Given the description of an element on the screen output the (x, y) to click on. 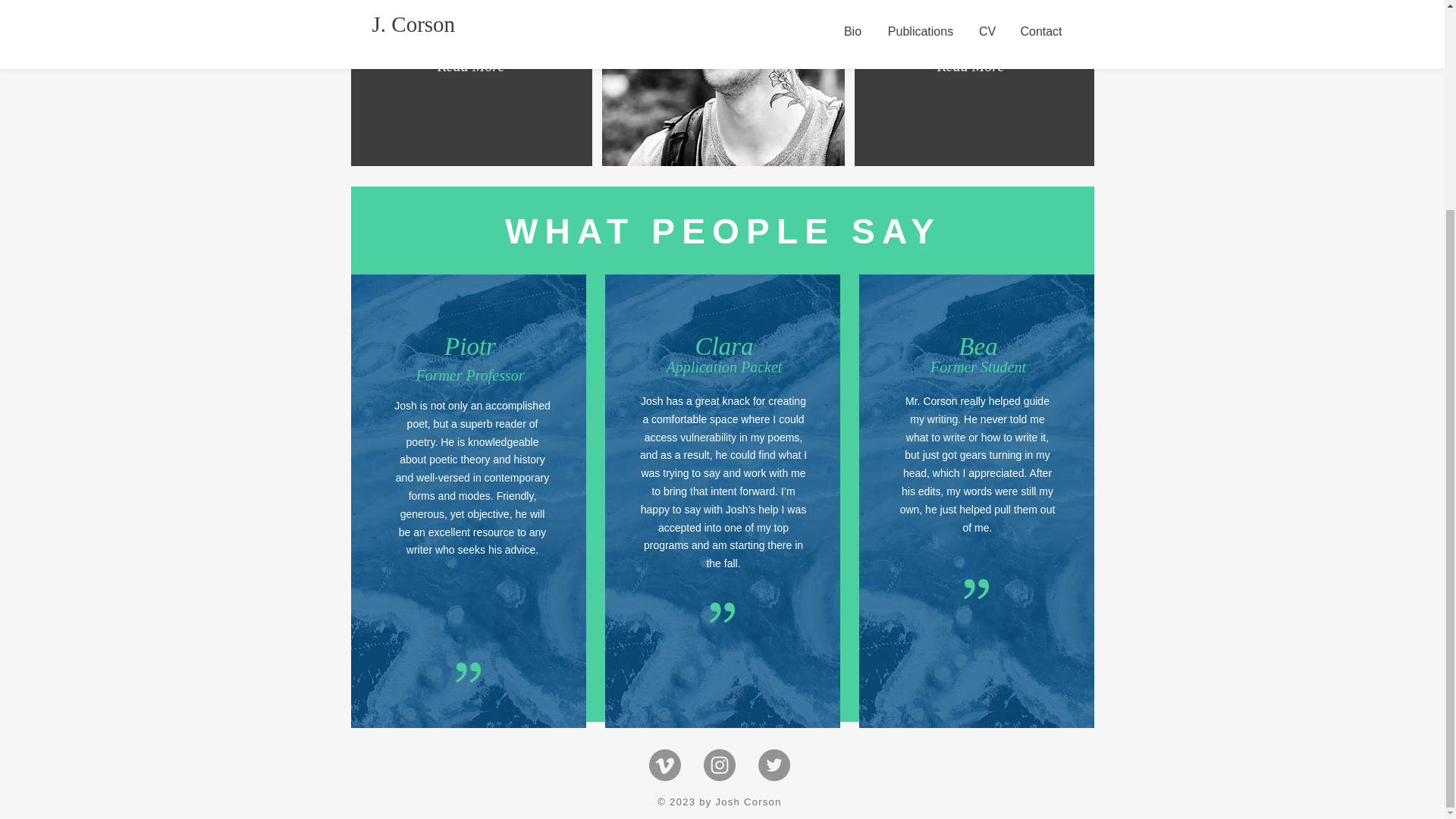
Read More (971, 65)
Read More (470, 65)
